Given the description of an element on the screen output the (x, y) to click on. 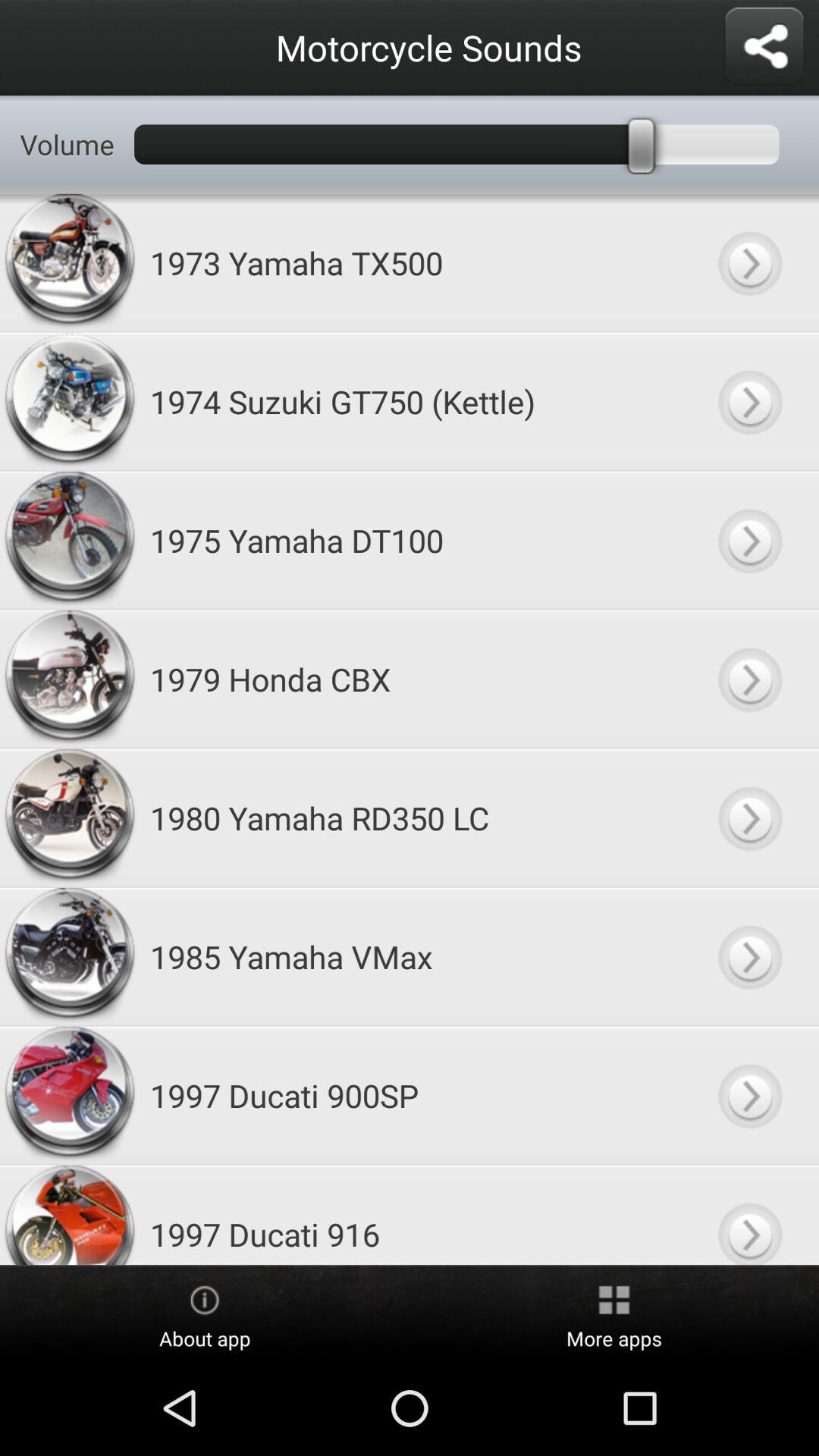
select option (749, 540)
